Given the description of an element on the screen output the (x, y) to click on. 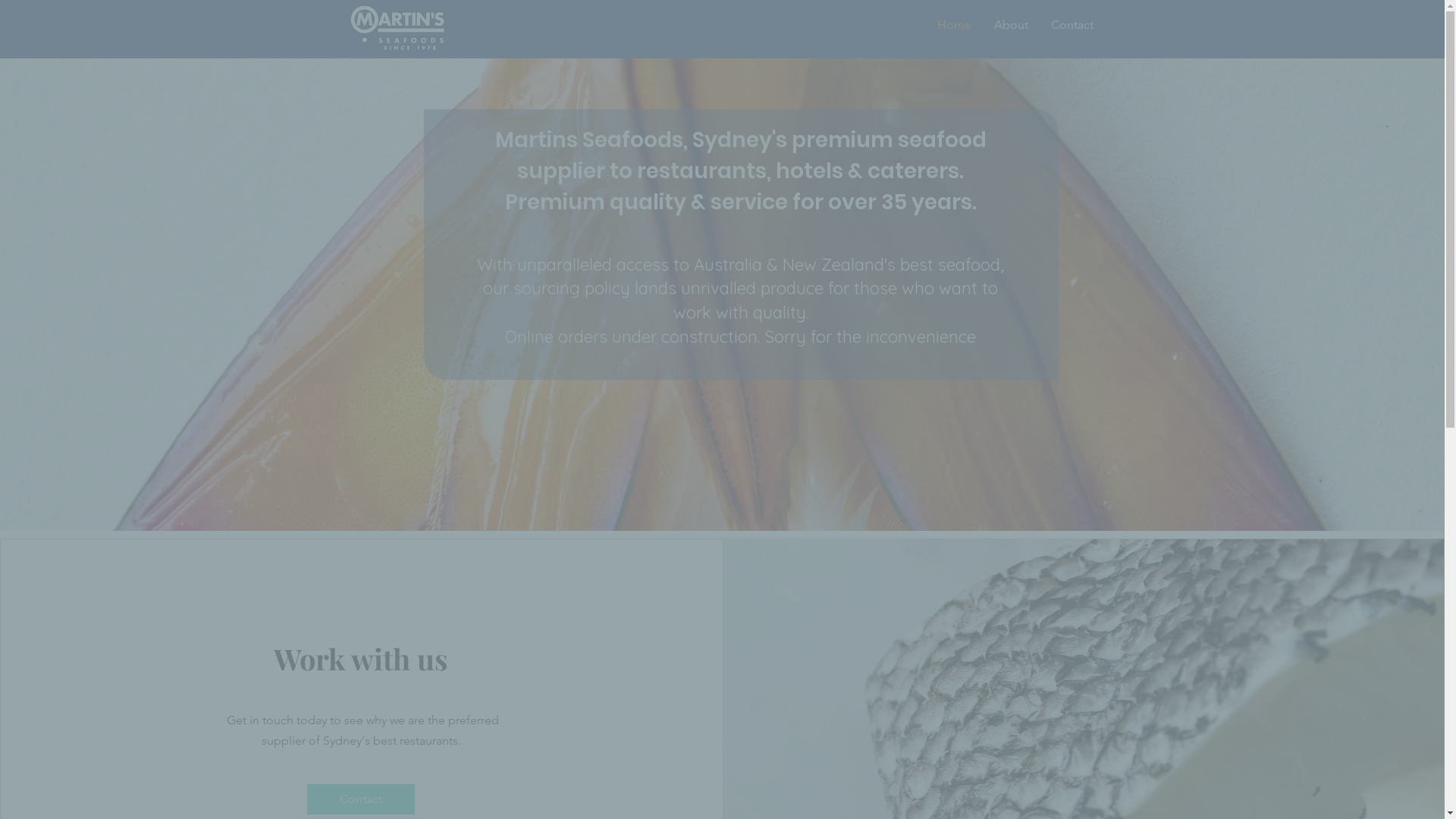
Contact Element type: text (1071, 24)
Contact Element type: text (360, 799)
About Element type: text (1010, 24)
Home Element type: text (953, 24)
